Given the description of an element on the screen output the (x, y) to click on. 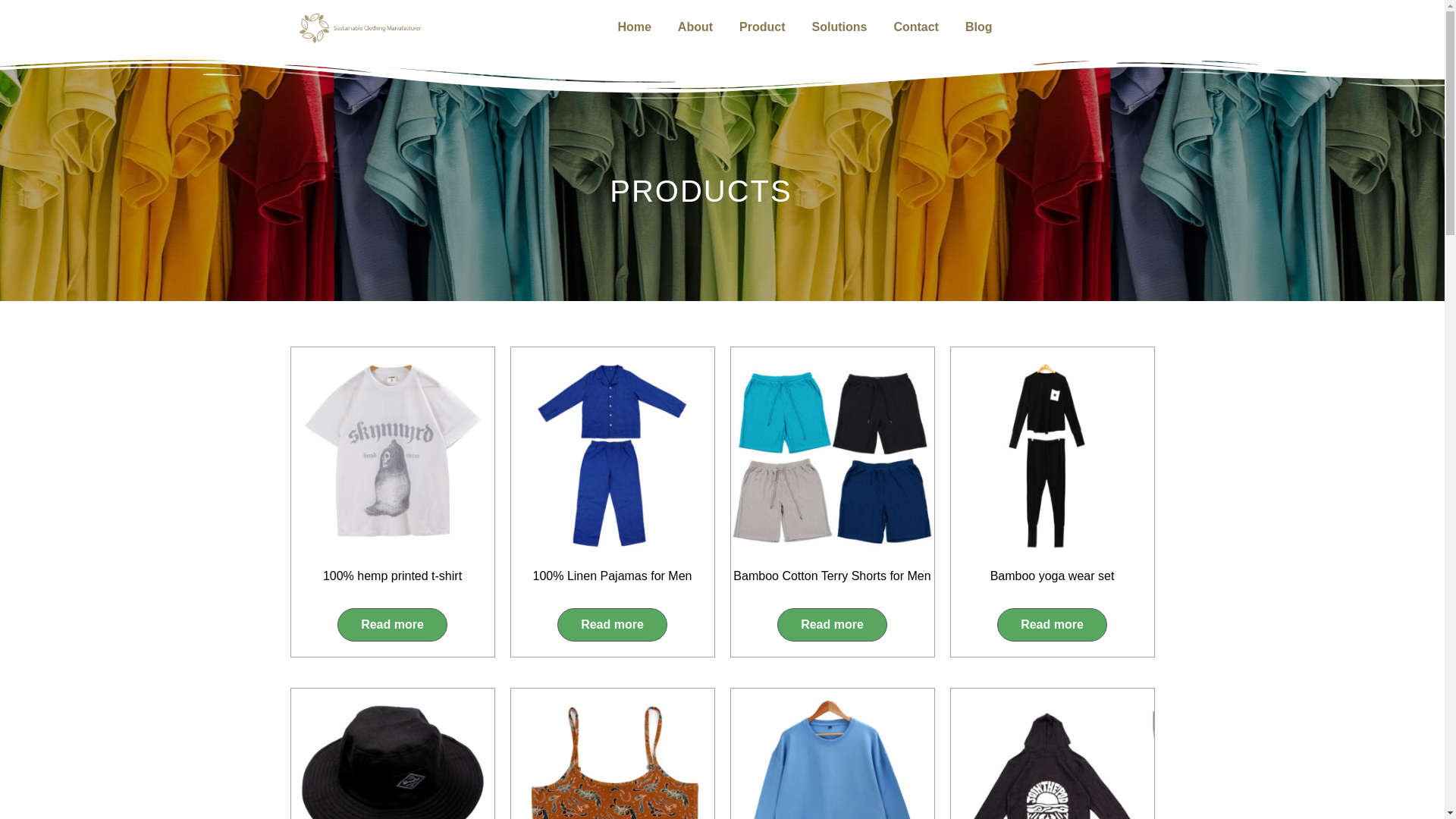
logo-2 (360, 27)
Solutions (838, 26)
Contact (916, 26)
Product (761, 26)
